Given the description of an element on the screen output the (x, y) to click on. 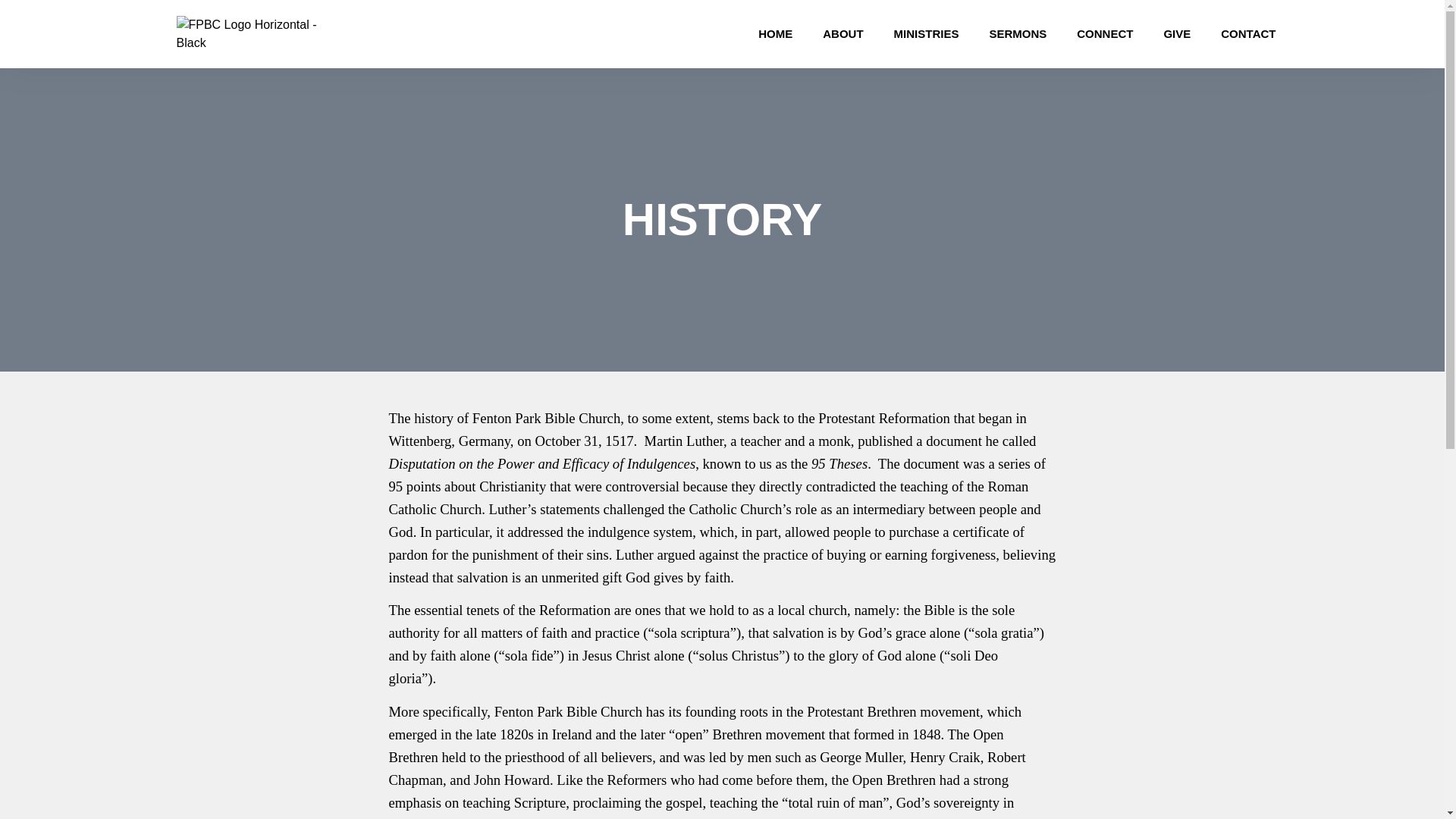
CONTACT (1247, 33)
ABOUT (842, 33)
MINISTRIES (926, 33)
CONNECT (1104, 33)
SERMONS (1017, 33)
HOME (775, 33)
